Given the description of an element on the screen output the (x, y) to click on. 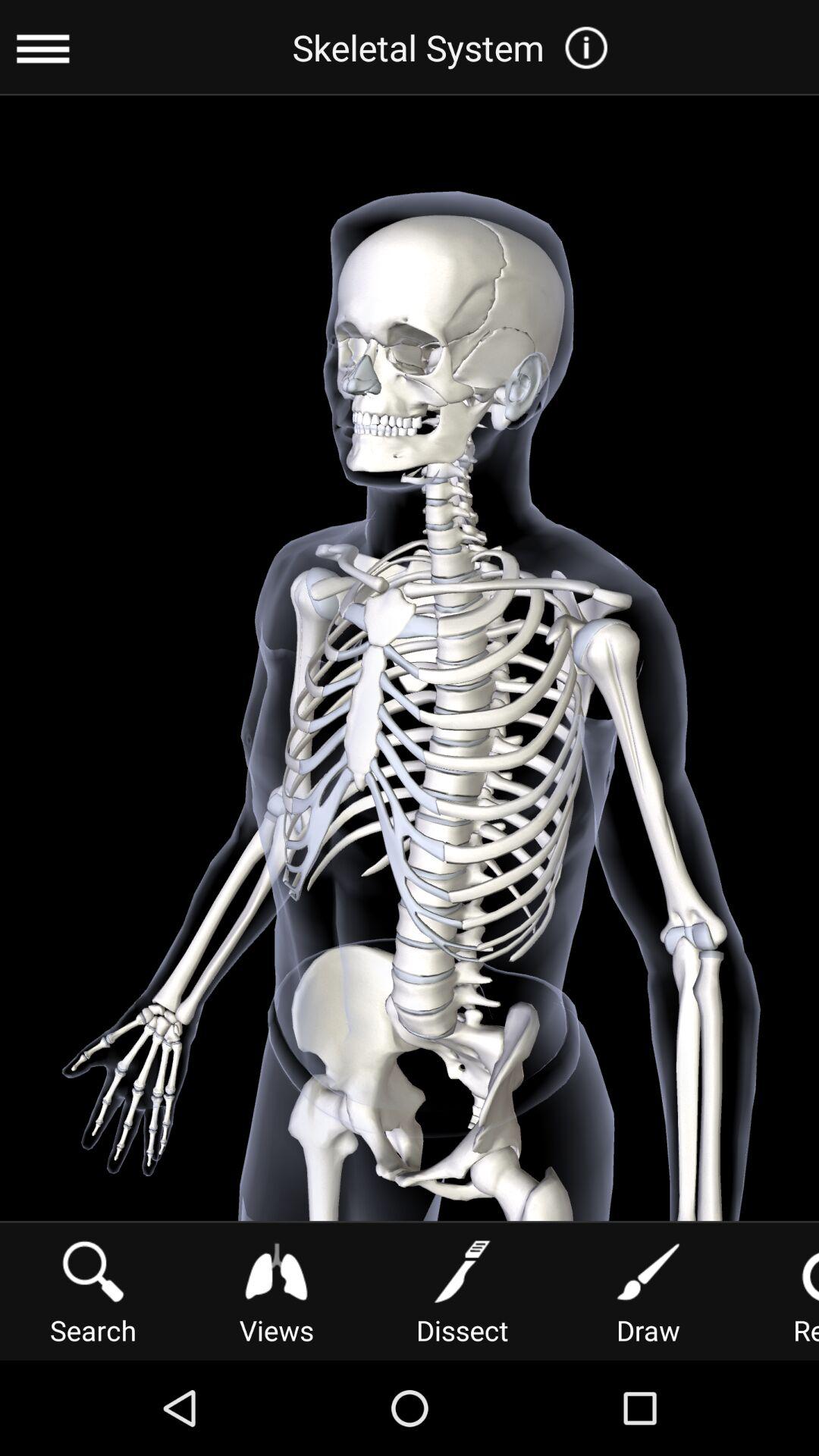
select views icon (276, 1290)
